Given the description of an element on the screen output the (x, y) to click on. 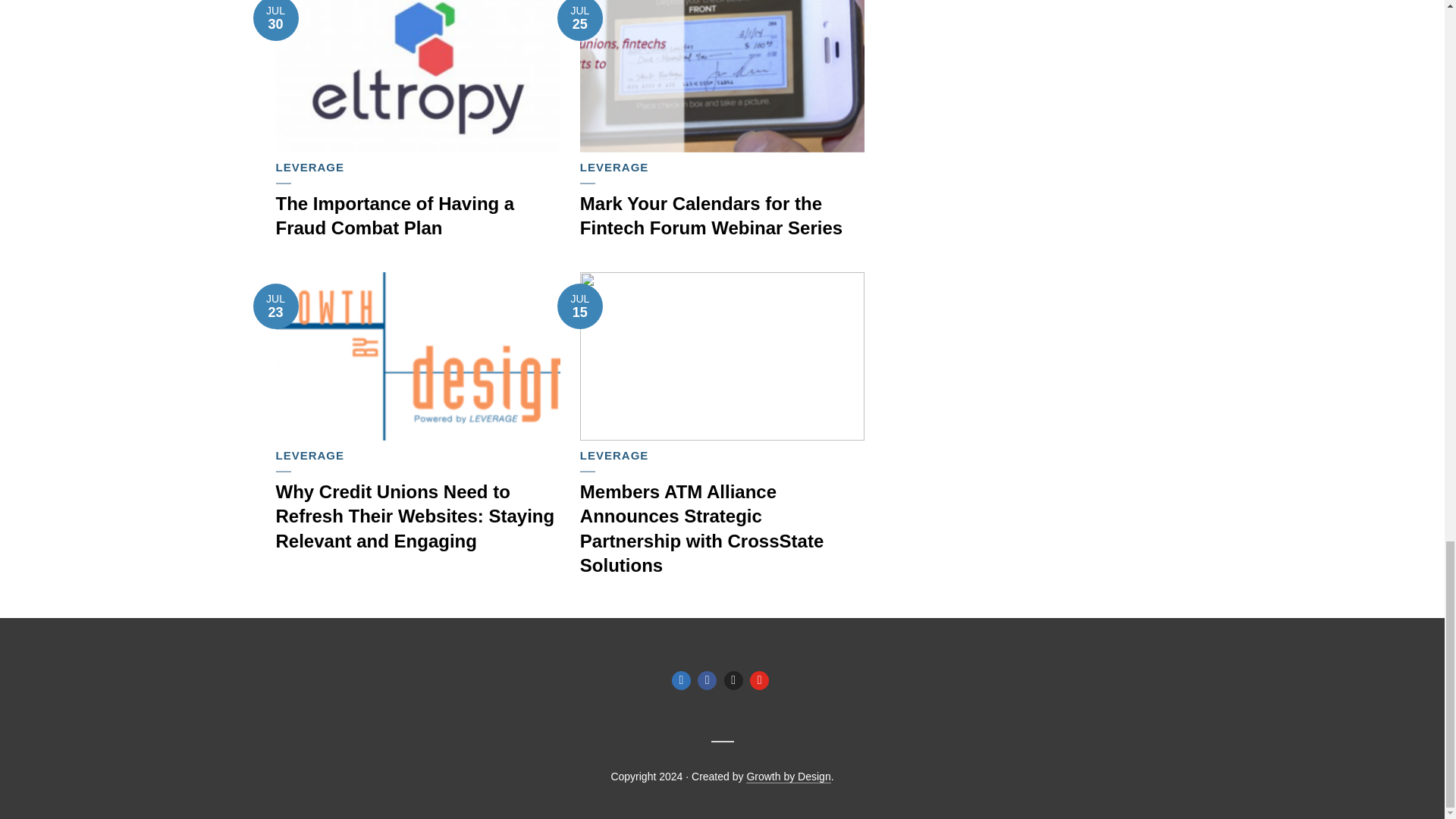
Linkedin (680, 680)
YouTube (758, 680)
Facebook (706, 680)
